Given the description of an element on the screen output the (x, y) to click on. 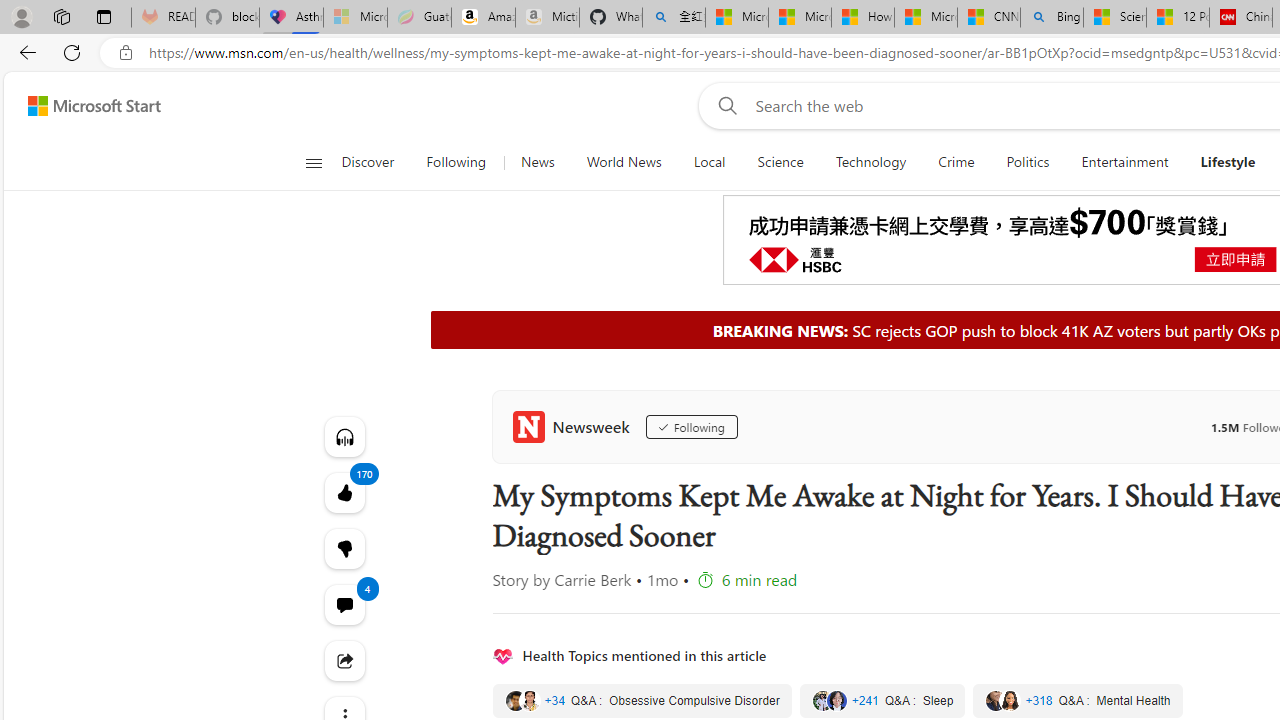
CNN - MSN (988, 17)
Newsweek (574, 426)
170 (343, 548)
